Given the description of an element on the screen output the (x, y) to click on. 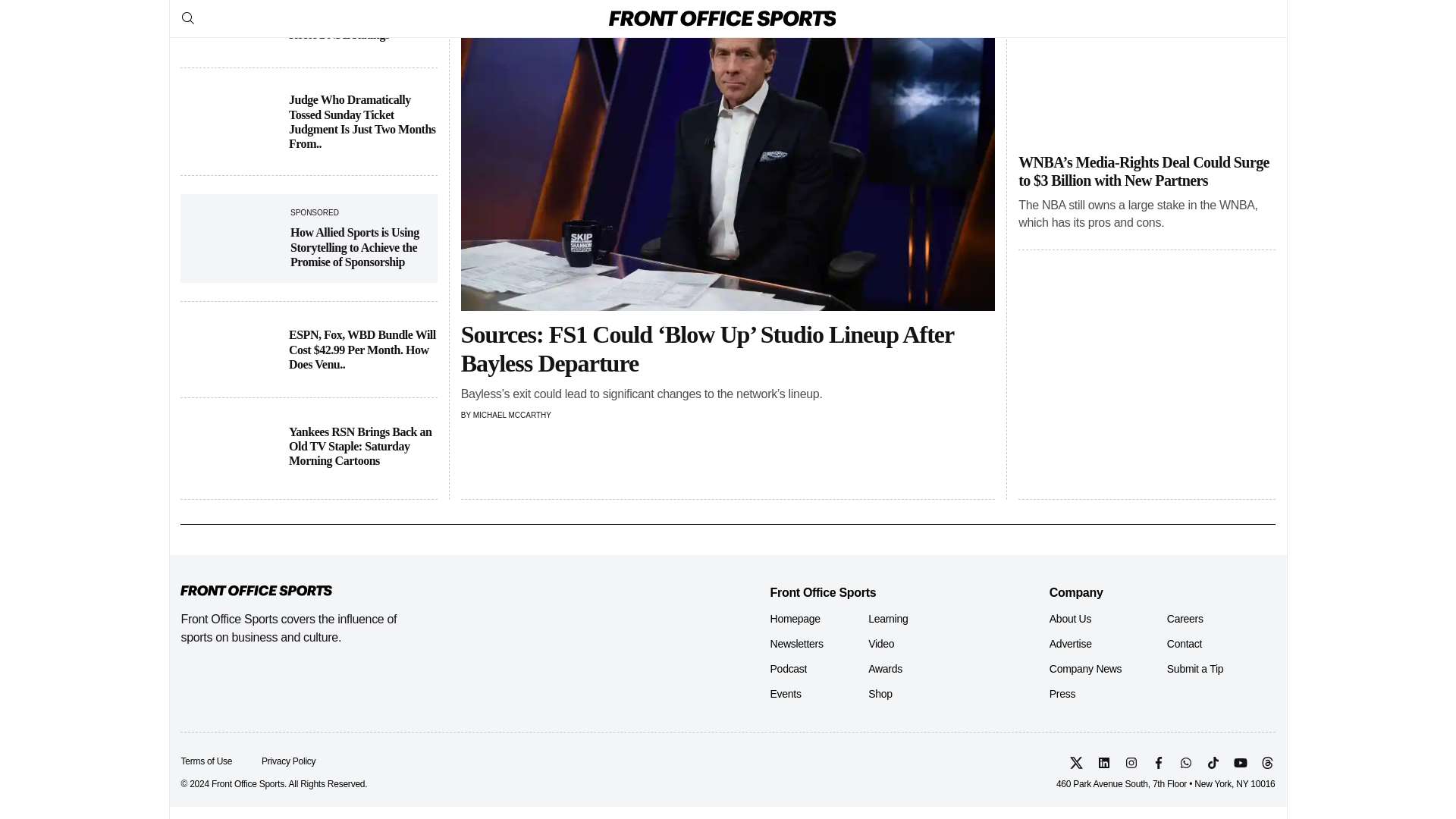
Posts by Michael McCarthy (512, 415)
